Given the description of an element on the screen output the (x, y) to click on. 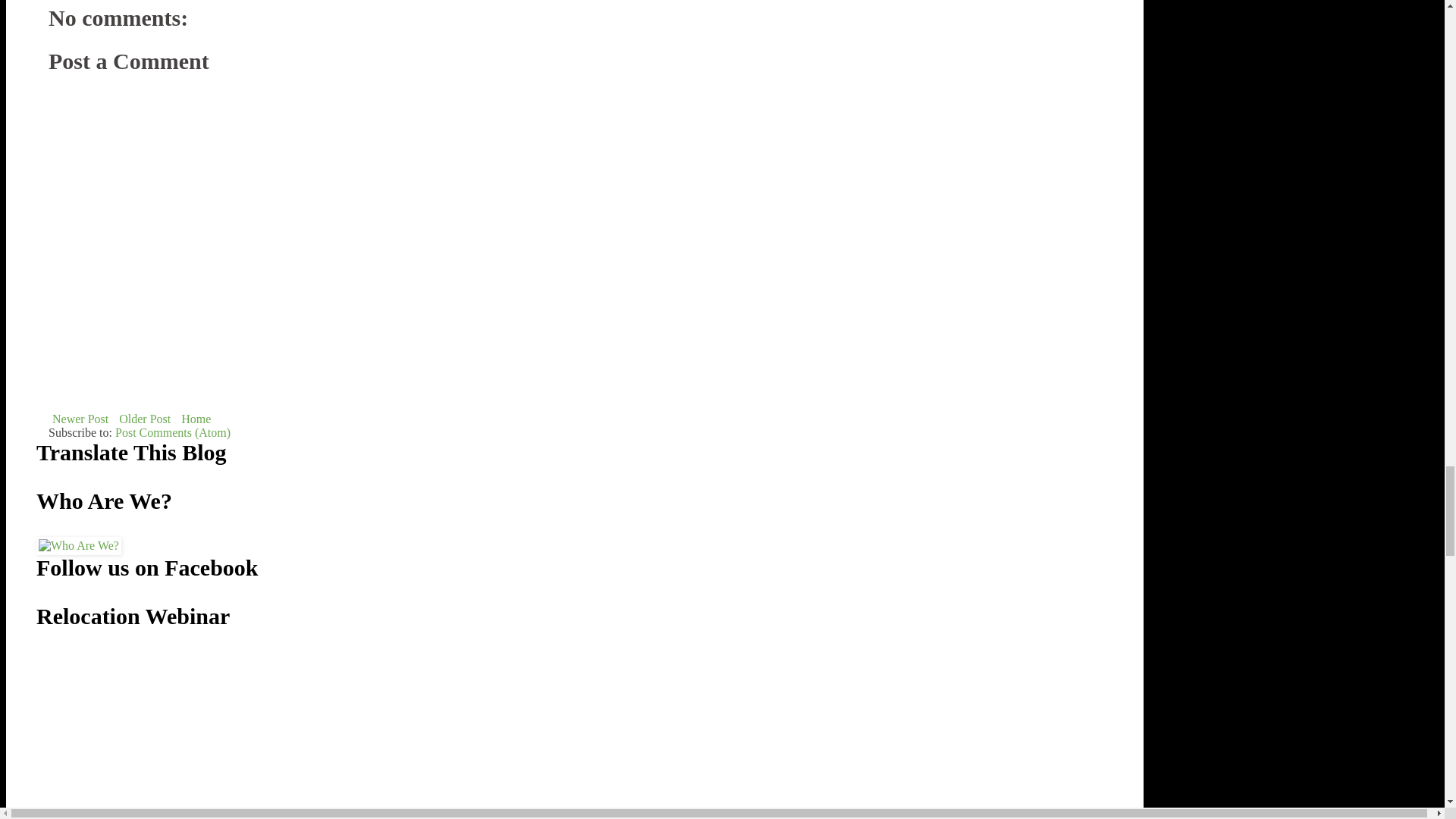
Newer Post (80, 418)
Older Post (144, 418)
YouTube video player (165, 735)
